Given the description of an element on the screen output the (x, y) to click on. 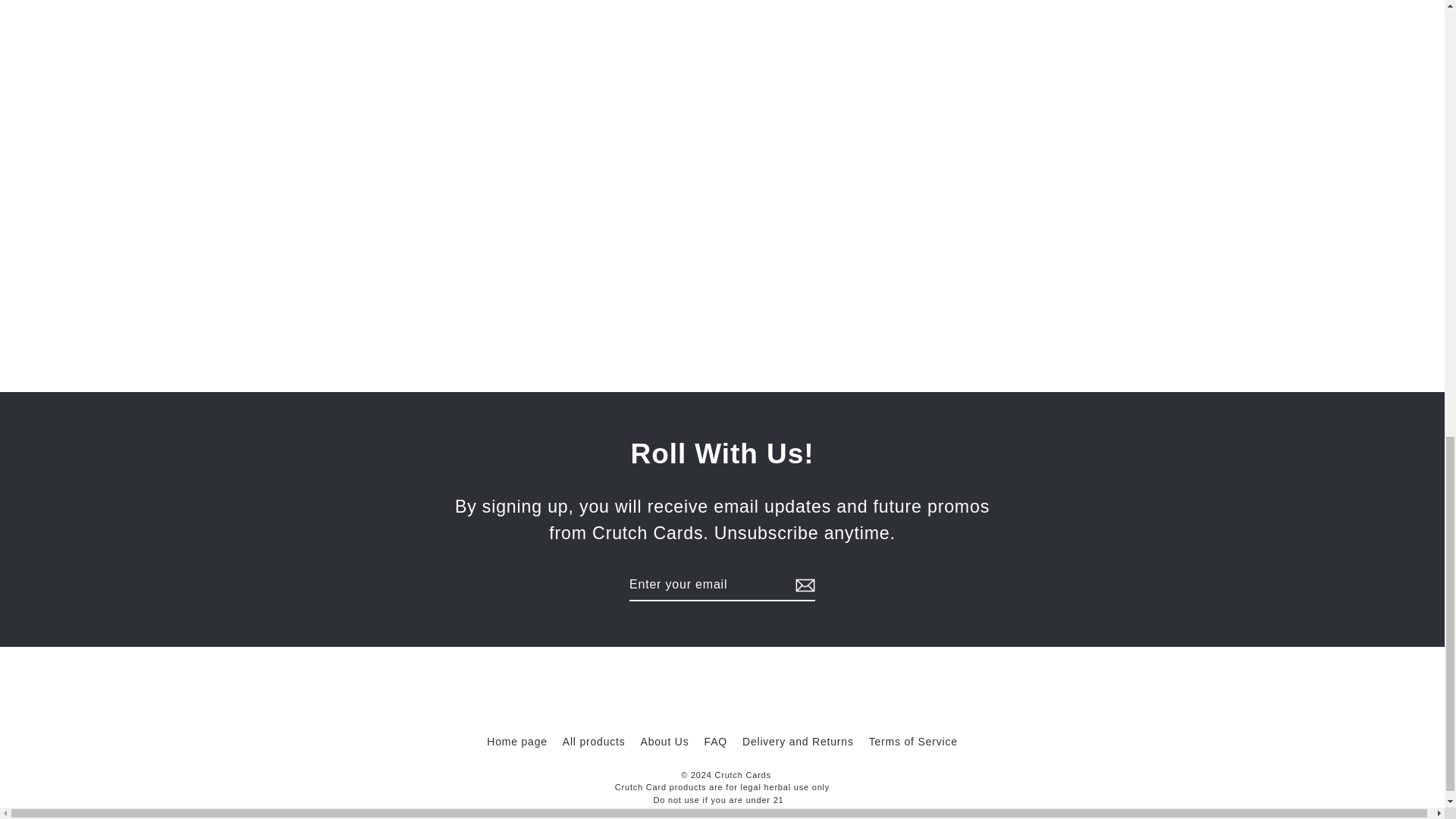
icon-email (804, 585)
About Us (665, 741)
Home page (516, 741)
All products (593, 741)
